Given the description of an element on the screen output the (x, y) to click on. 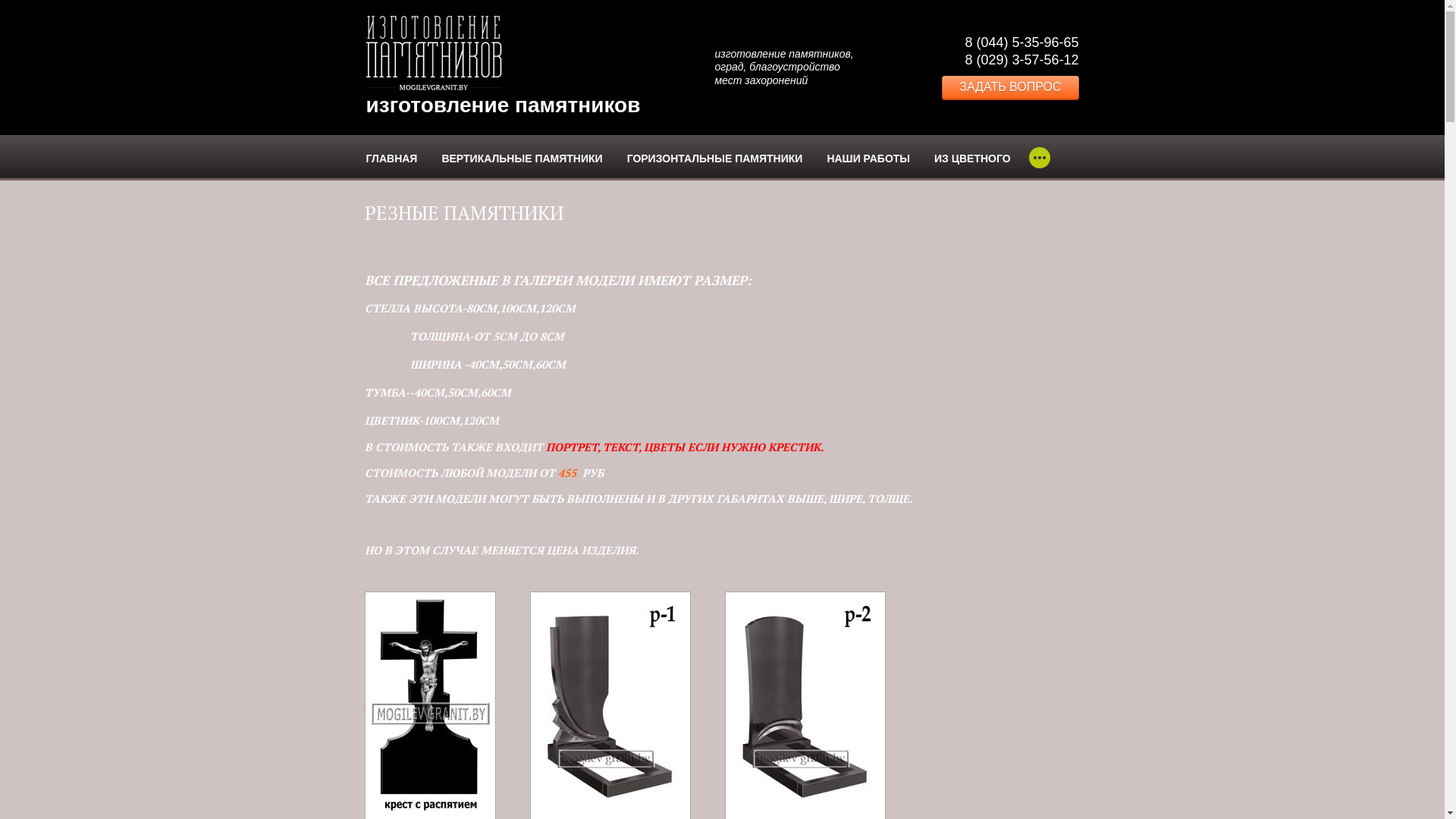
8 (029) 3-57-56-12 Element type: text (1021, 59)
8 (044) 5-35-96-65 Element type: text (1021, 42)
